Given the description of an element on the screen output the (x, y) to click on. 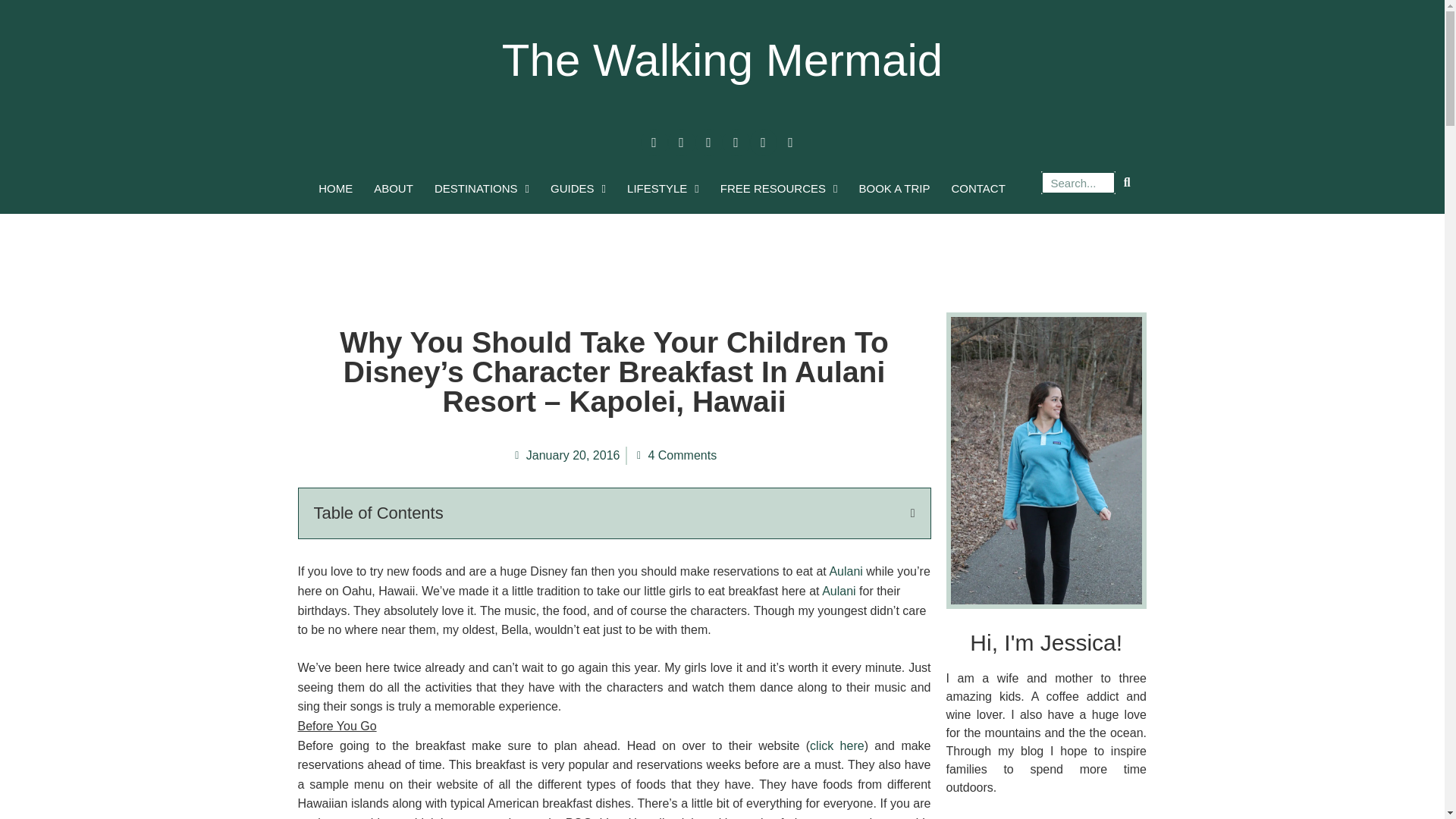
DESTINATIONS (481, 188)
The Walking Mermaid (722, 60)
HOME (334, 188)
ABOUT (392, 188)
LIFESTYLE (662, 188)
GUIDES (577, 188)
